Given the description of an element on the screen output the (x, y) to click on. 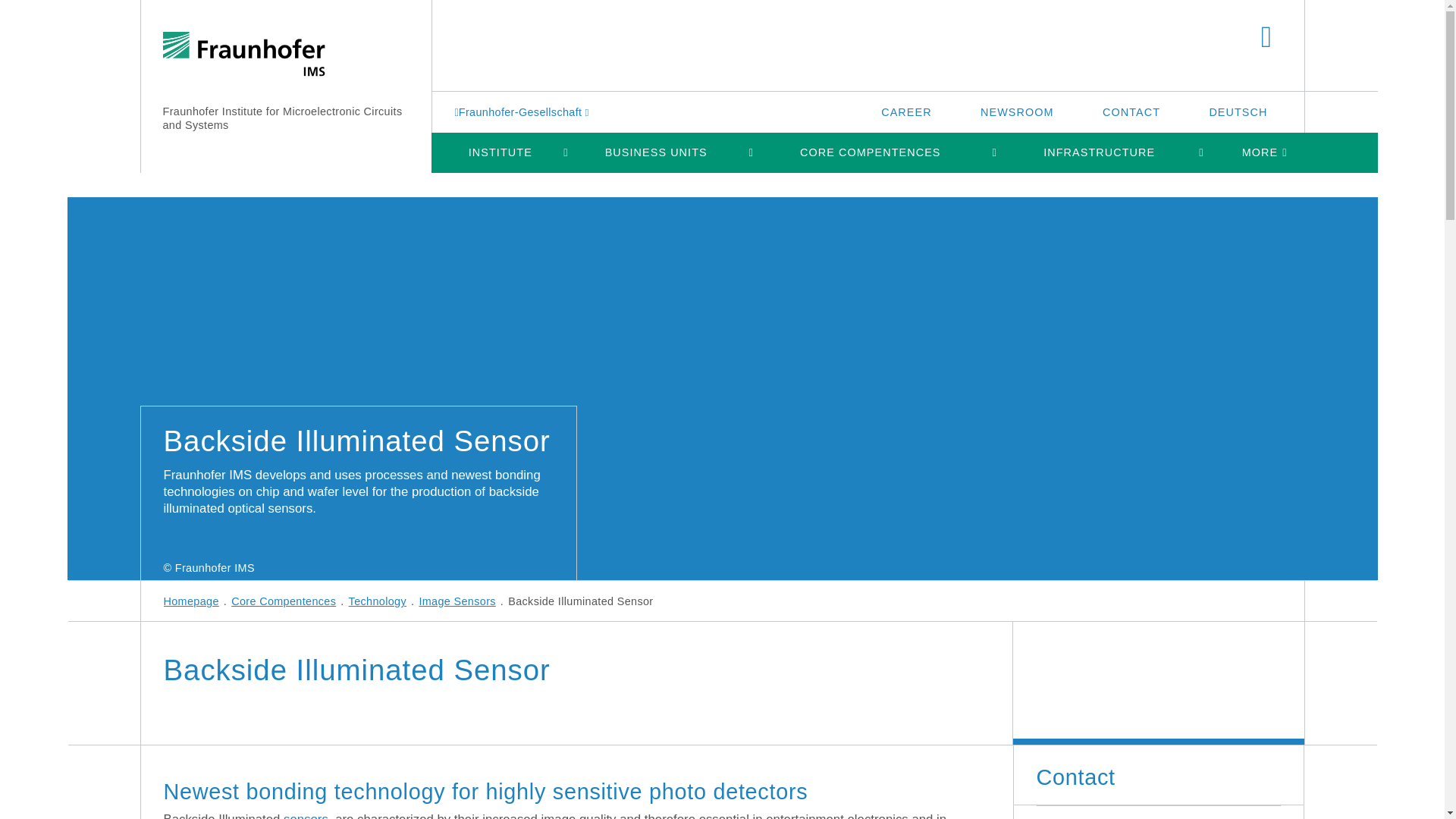
CONTACT (1131, 111)
CAREER (906, 111)
NEWSROOM (1017, 111)
INSTITUTE (500, 151)
CORE COMPENTENCES (870, 151)
SEARCH (1266, 37)
Fraunhofer-Gesellschaft (523, 111)
BUSINESS UNITS (655, 151)
DEUTSCH (1238, 111)
